Given the description of an element on the screen output the (x, y) to click on. 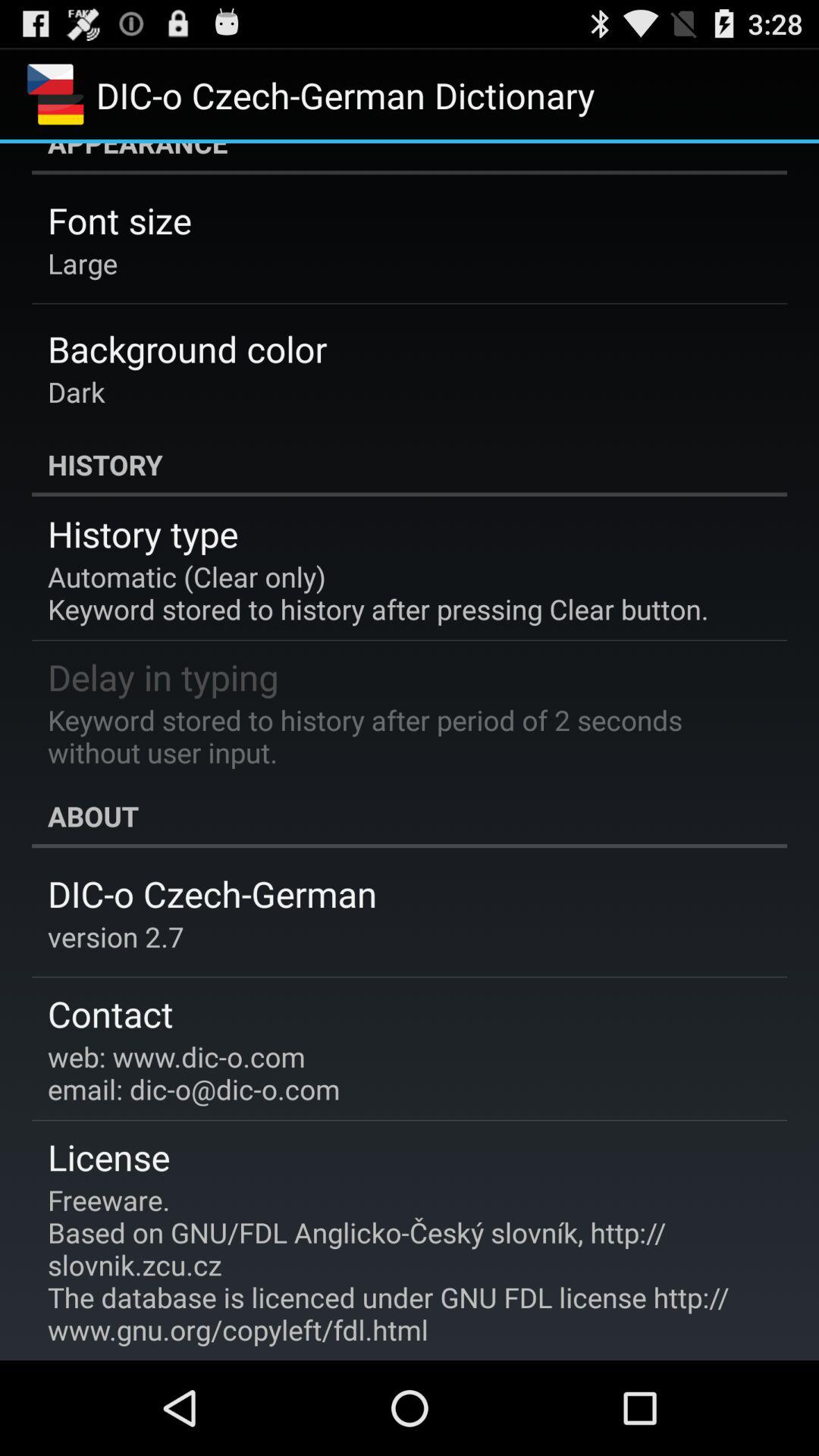
swipe to the freeware based on item (399, 1264)
